Given the description of an element on the screen output the (x, y) to click on. 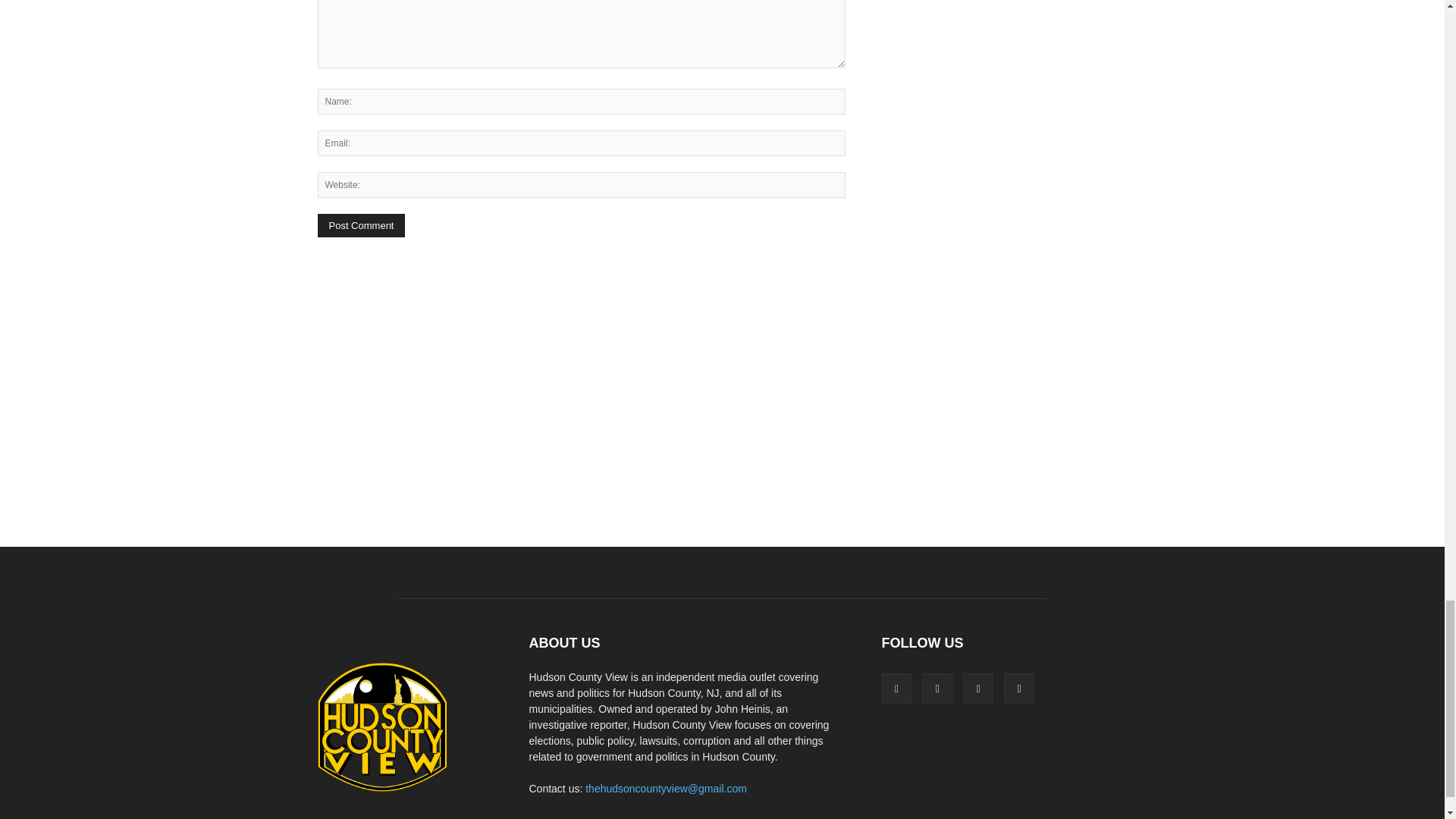
Post Comment (360, 225)
